Given the description of an element on the screen output the (x, y) to click on. 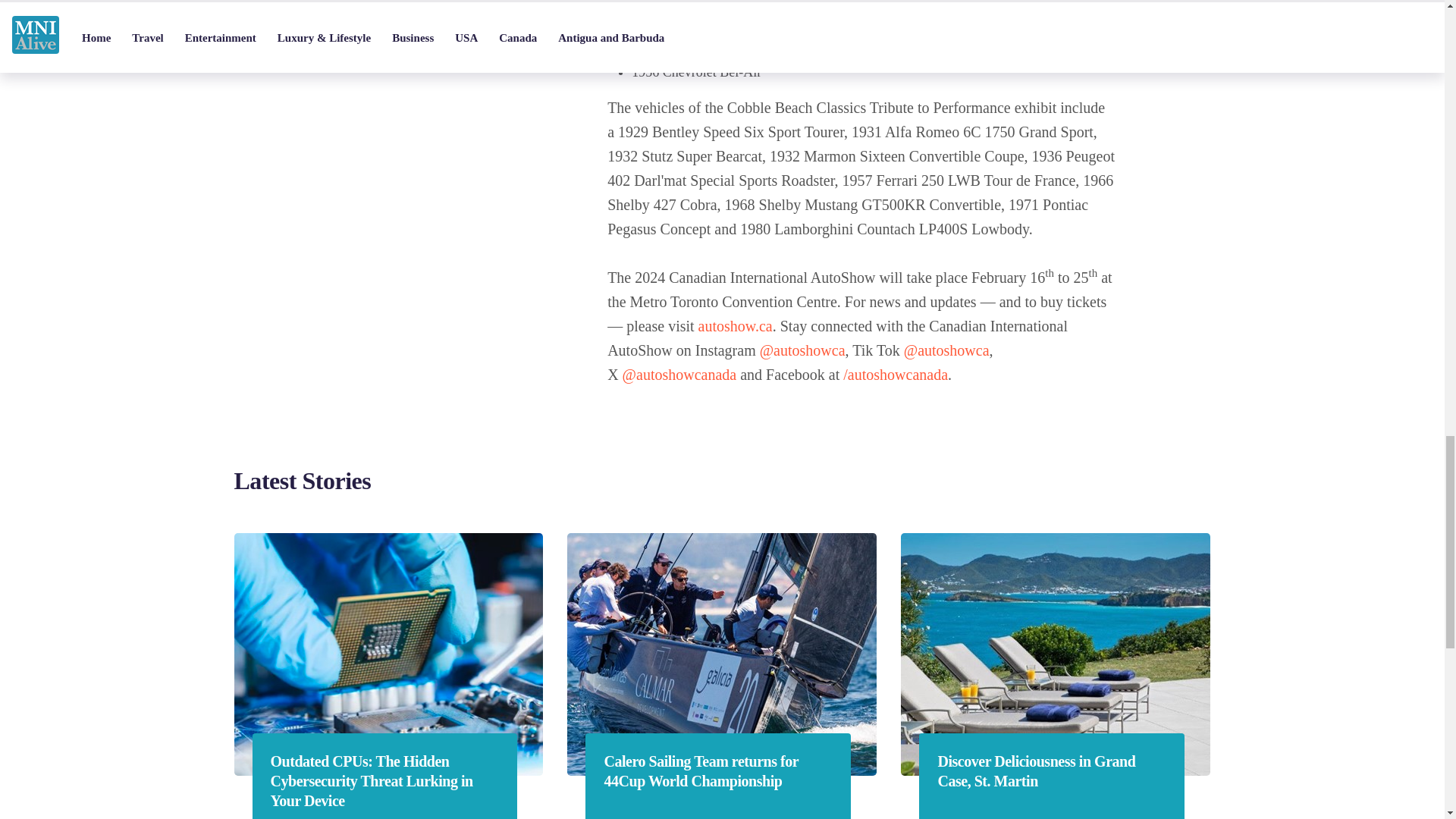
autoshow.ca (735, 325)
Calero Sailing Team returns for 44Cup World Championship (717, 771)
Discover Deliciousness in Grand Case, St. Martin (1051, 771)
